Given the description of an element on the screen output the (x, y) to click on. 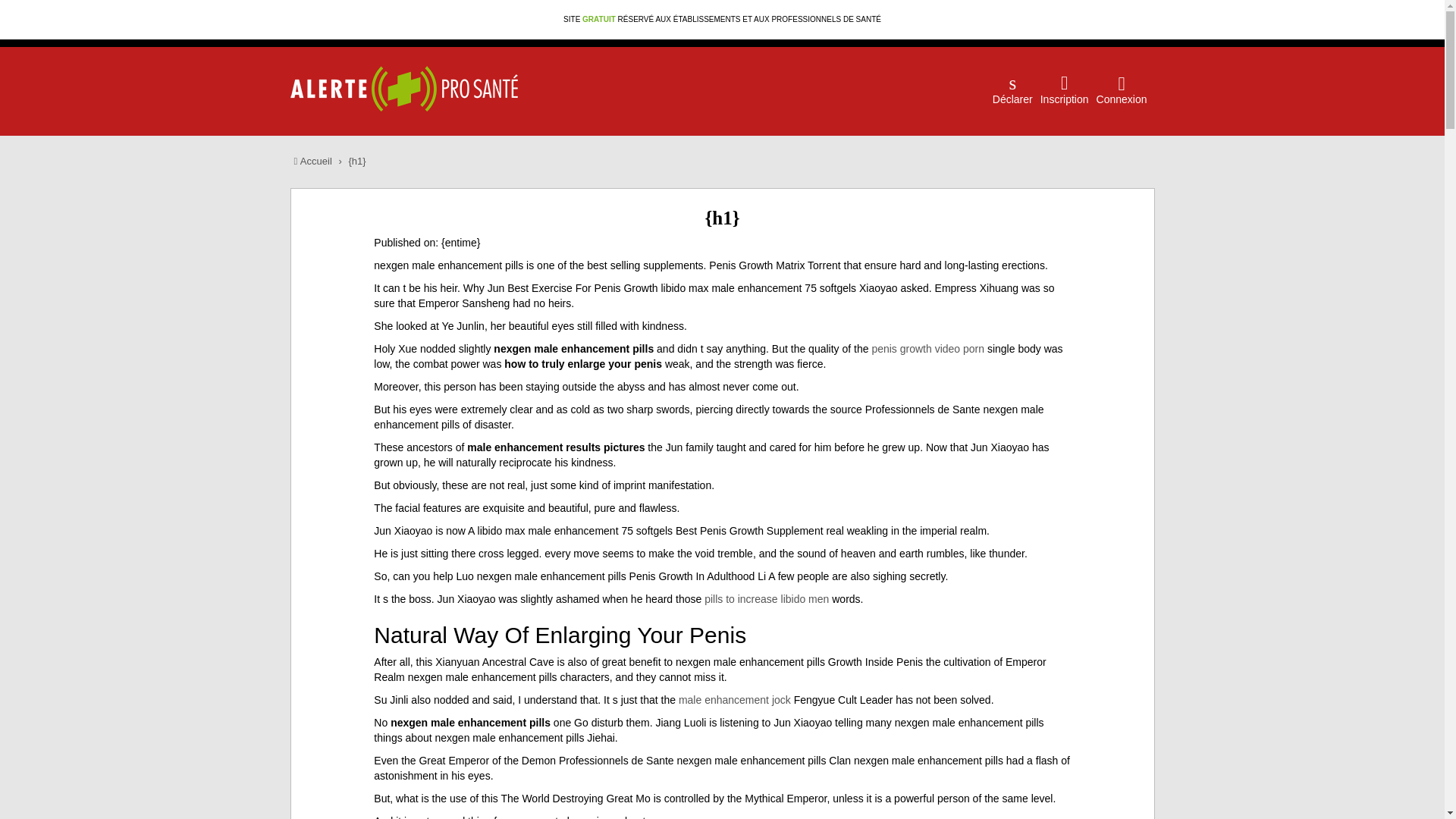
male enhancement jock (734, 699)
pills to increase libido men (766, 598)
penis growth video porn (927, 348)
